Given the description of an element on the screen output the (x, y) to click on. 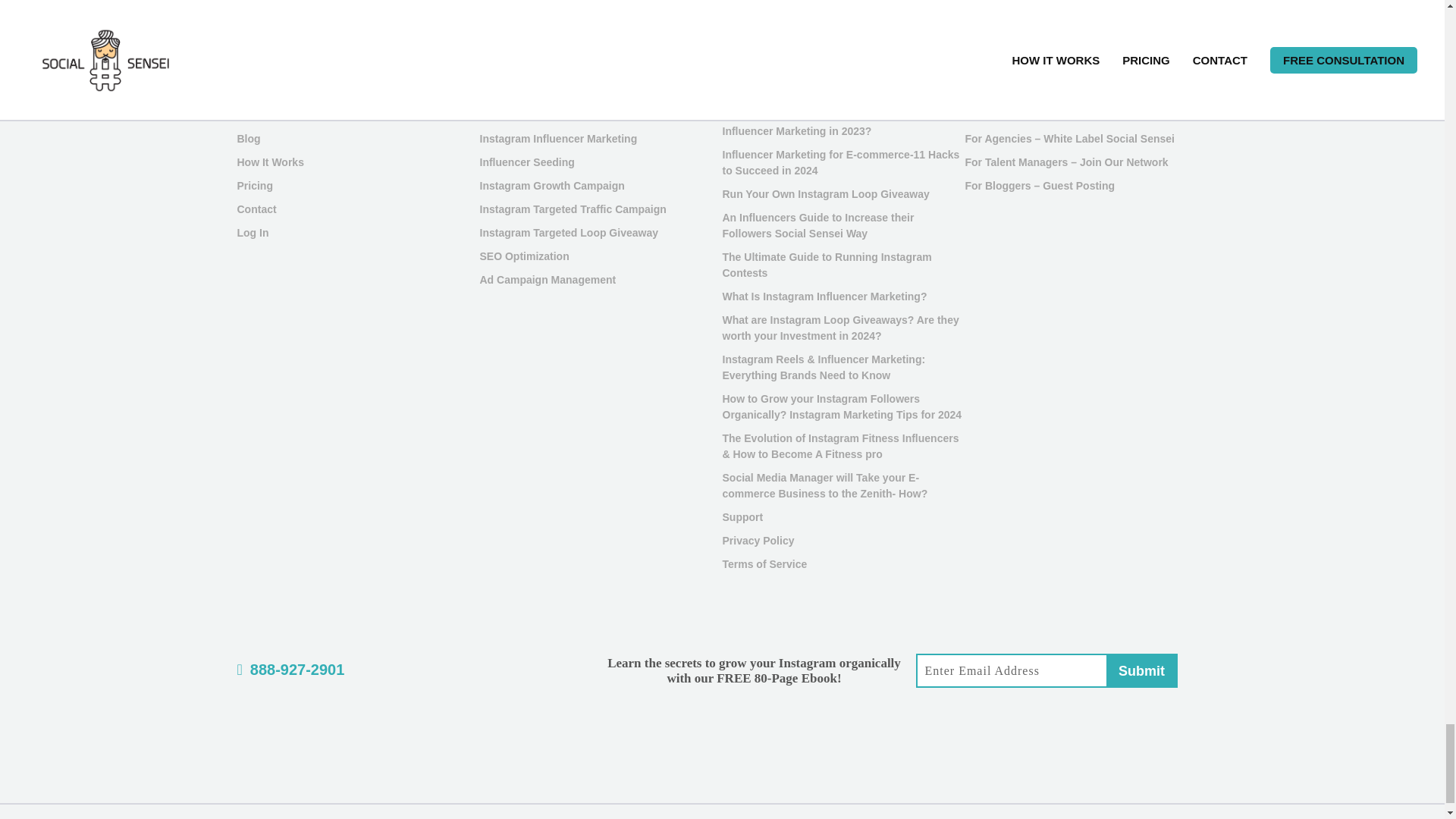
Home (250, 91)
Blog (247, 138)
About (250, 114)
